Given the description of an element on the screen output the (x, y) to click on. 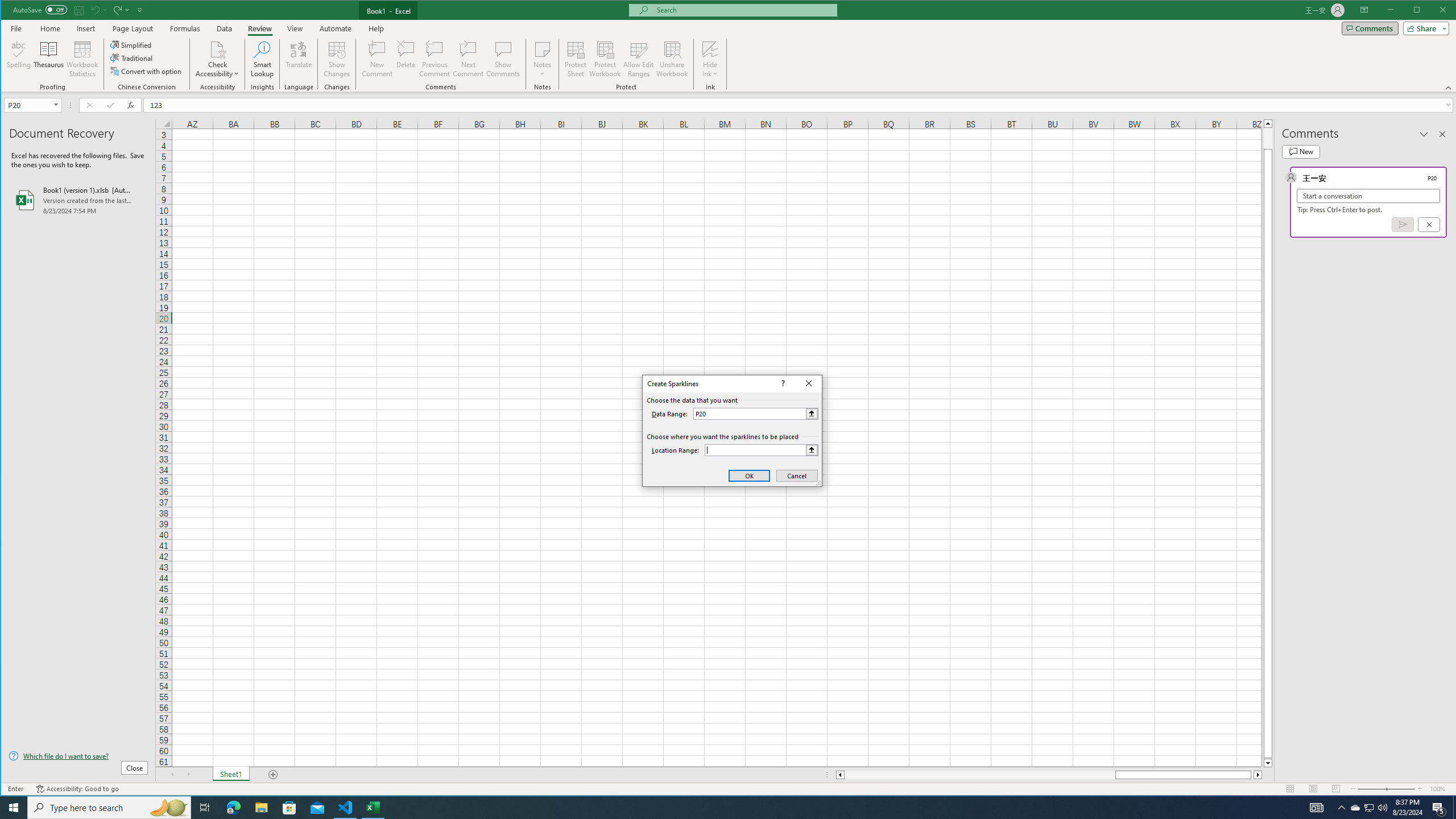
Workbook Statistics (82, 59)
